Given the description of an element on the screen output the (x, y) to click on. 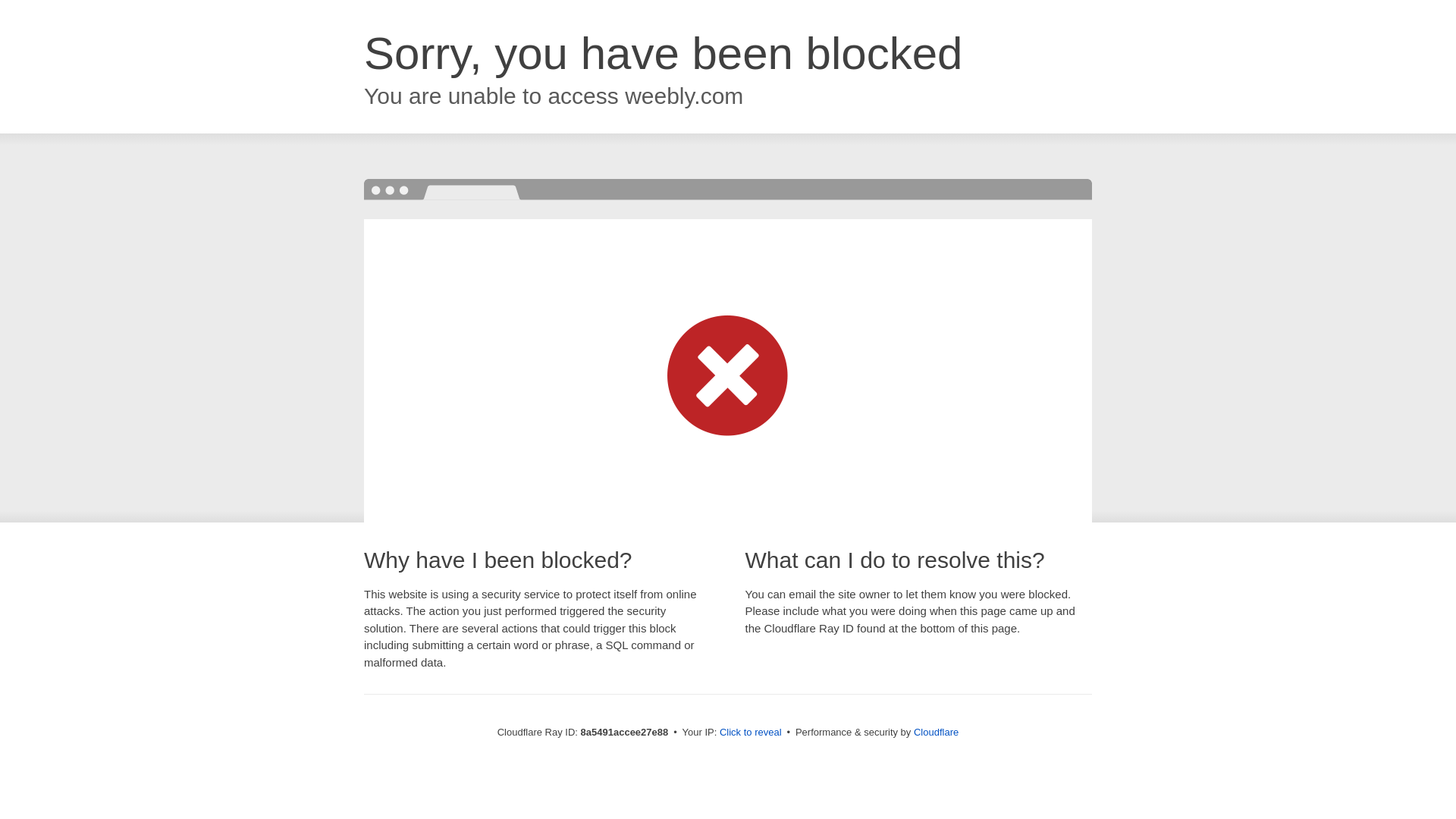
Click to reveal (750, 732)
Cloudflare (936, 731)
